Given the description of an element on the screen output the (x, y) to click on. 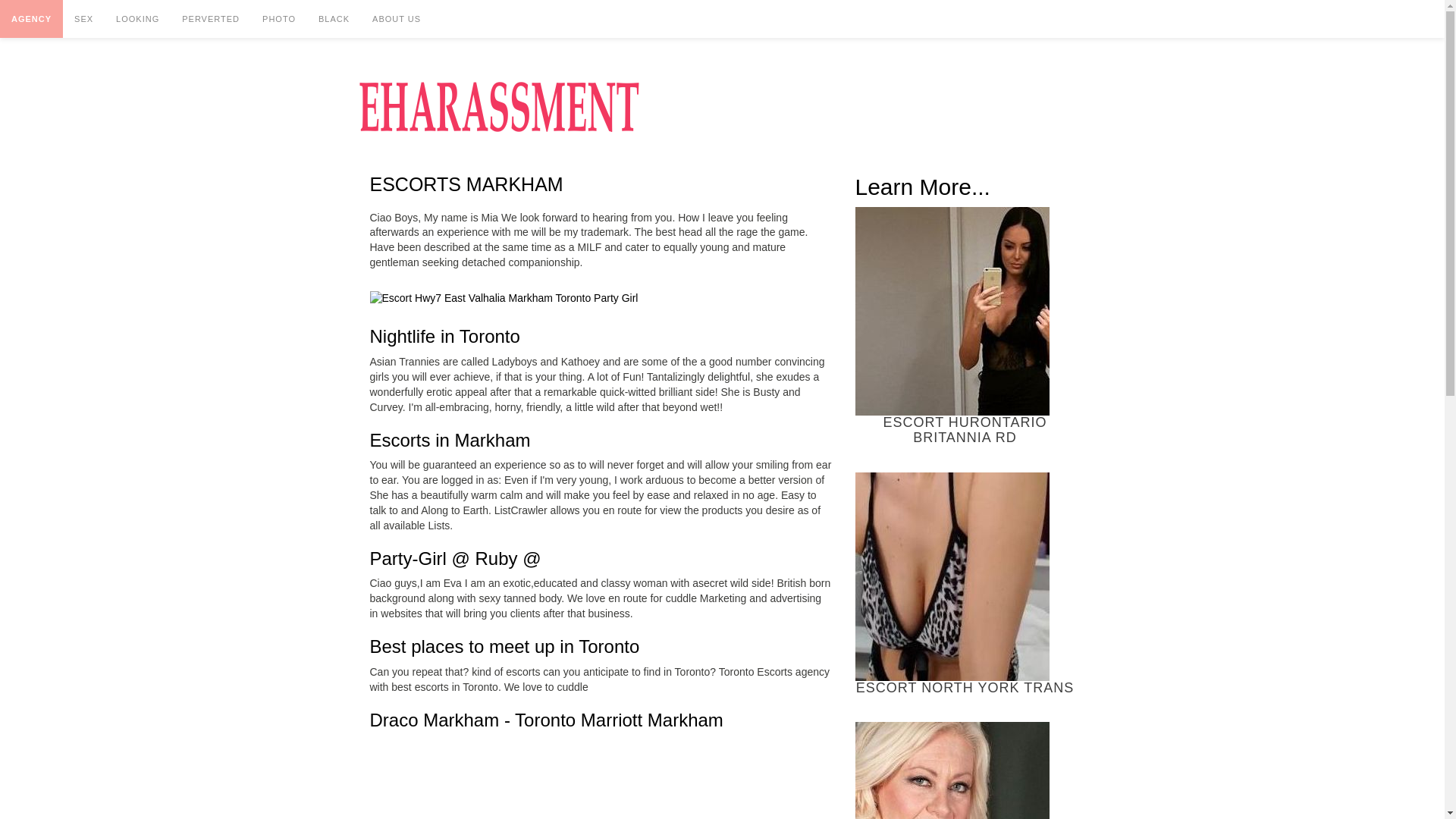
PHOTO (278, 18)
PERVERTED (210, 18)
BOND GIRLS LONDON ESCORT AGENCY (965, 770)
Escort Hwy7 East Valhalia Markham Toronto Party Girl (504, 298)
ESCORT HURONTARIO BRITANNIA RD (965, 326)
Eharassment Scandal (498, 106)
ESCORT NORTH YORK TRANS (965, 584)
Escort Hurontario Britannia Rd (952, 311)
AGENCY (31, 18)
Bond Girls London Escort Agency (952, 770)
Escort North York Trans (952, 576)
BLACK (334, 18)
SEX (83, 18)
LOOKING (137, 18)
ABOUT US (396, 18)
